Given the description of an element on the screen output the (x, y) to click on. 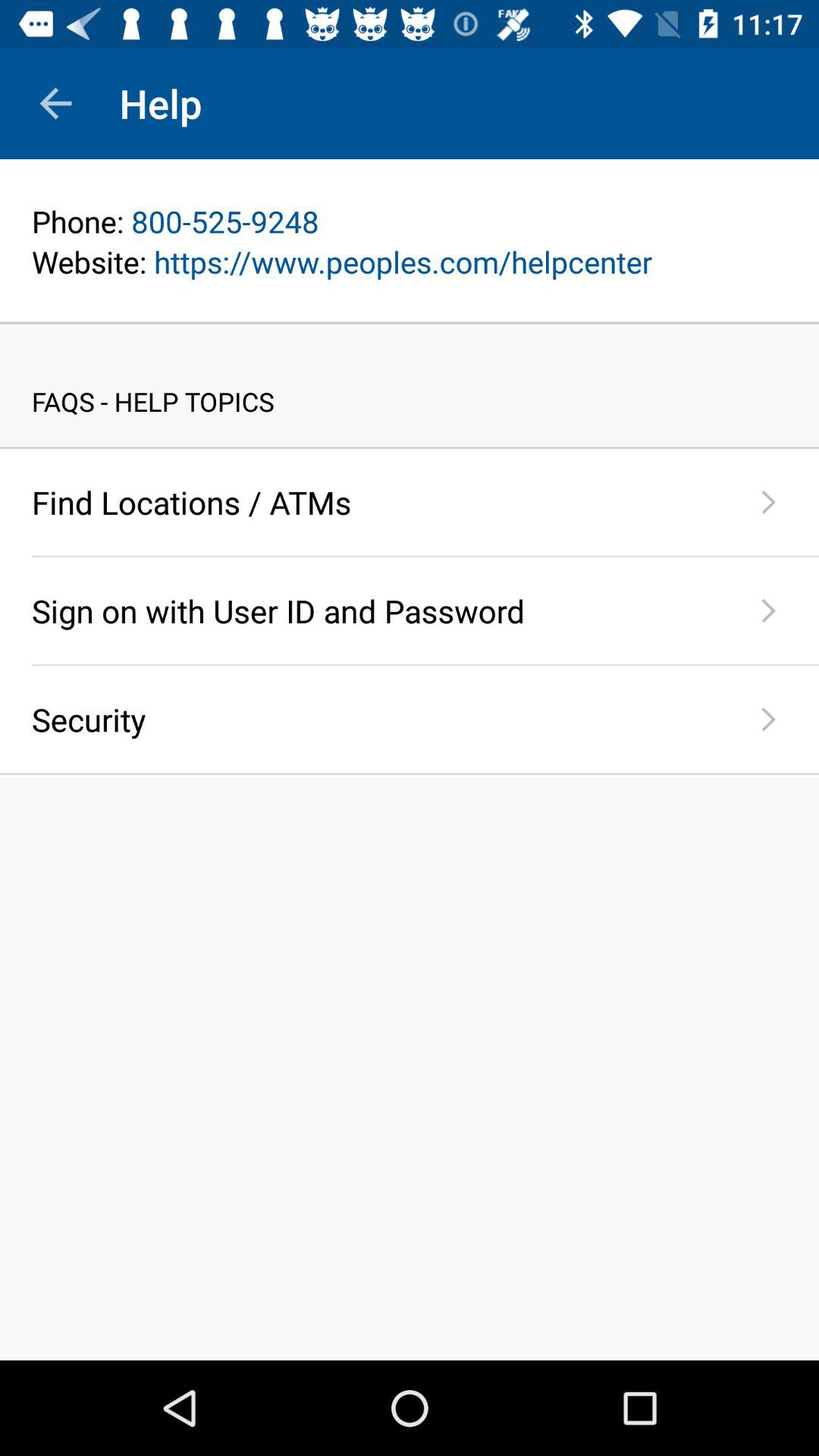
swipe until the find locations / atms app (374, 501)
